Given the description of an element on the screen output the (x, y) to click on. 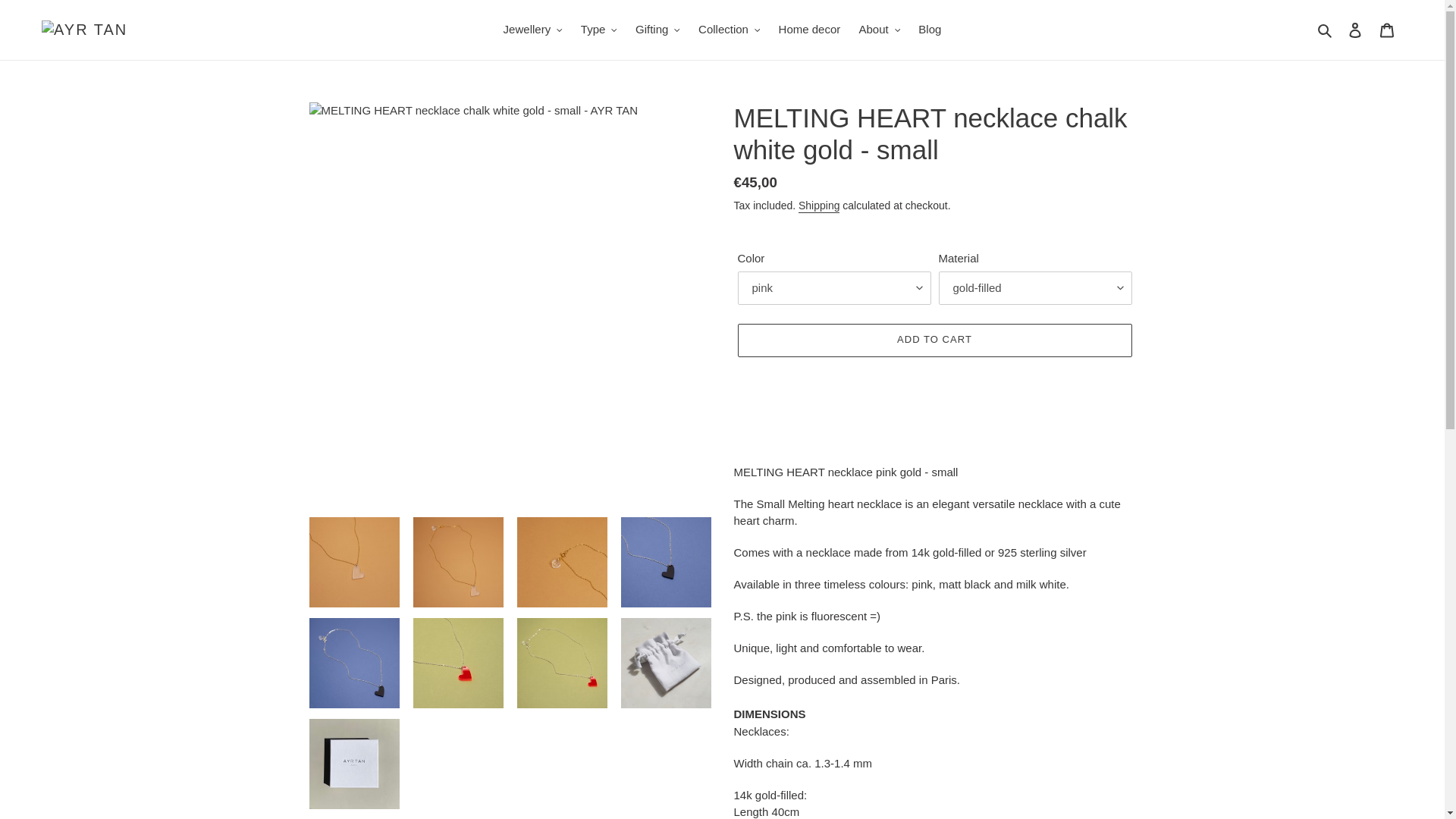
Jewellery (533, 29)
Type (598, 29)
Log in (1355, 29)
Home decor (809, 29)
Cart (1387, 29)
About (878, 29)
Blog (930, 29)
Search (1326, 29)
Gifting (657, 29)
Collection (728, 29)
